Given the description of an element on the screen output the (x, y) to click on. 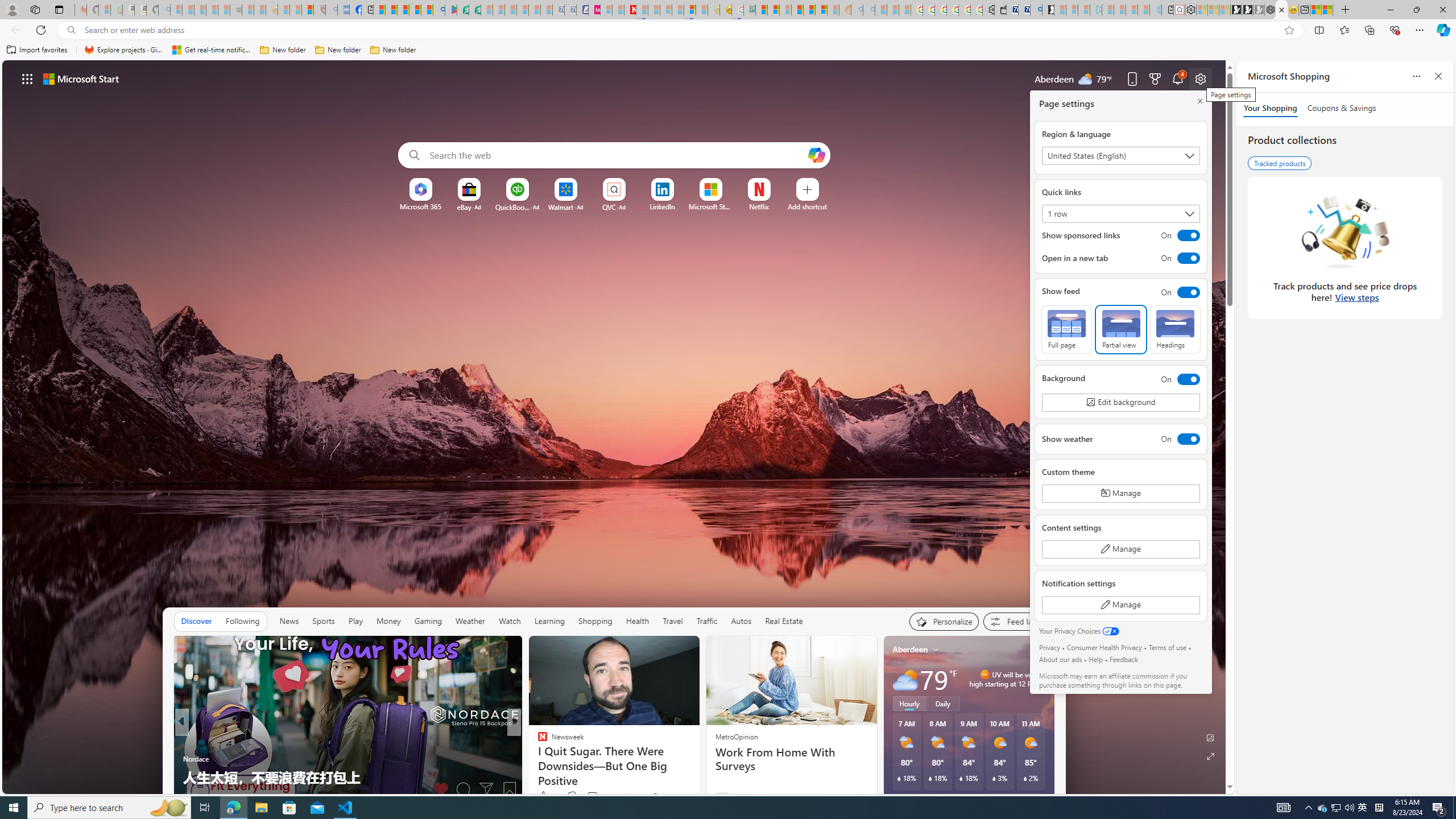
previous (888, 722)
411 Like (545, 796)
Learning (549, 621)
Help (1095, 658)
Pets - MSN (415, 9)
Combat Siege (236, 9)
Personalize your feed" (943, 621)
Partial view (1120, 328)
